Given the description of an element on the screen output the (x, y) to click on. 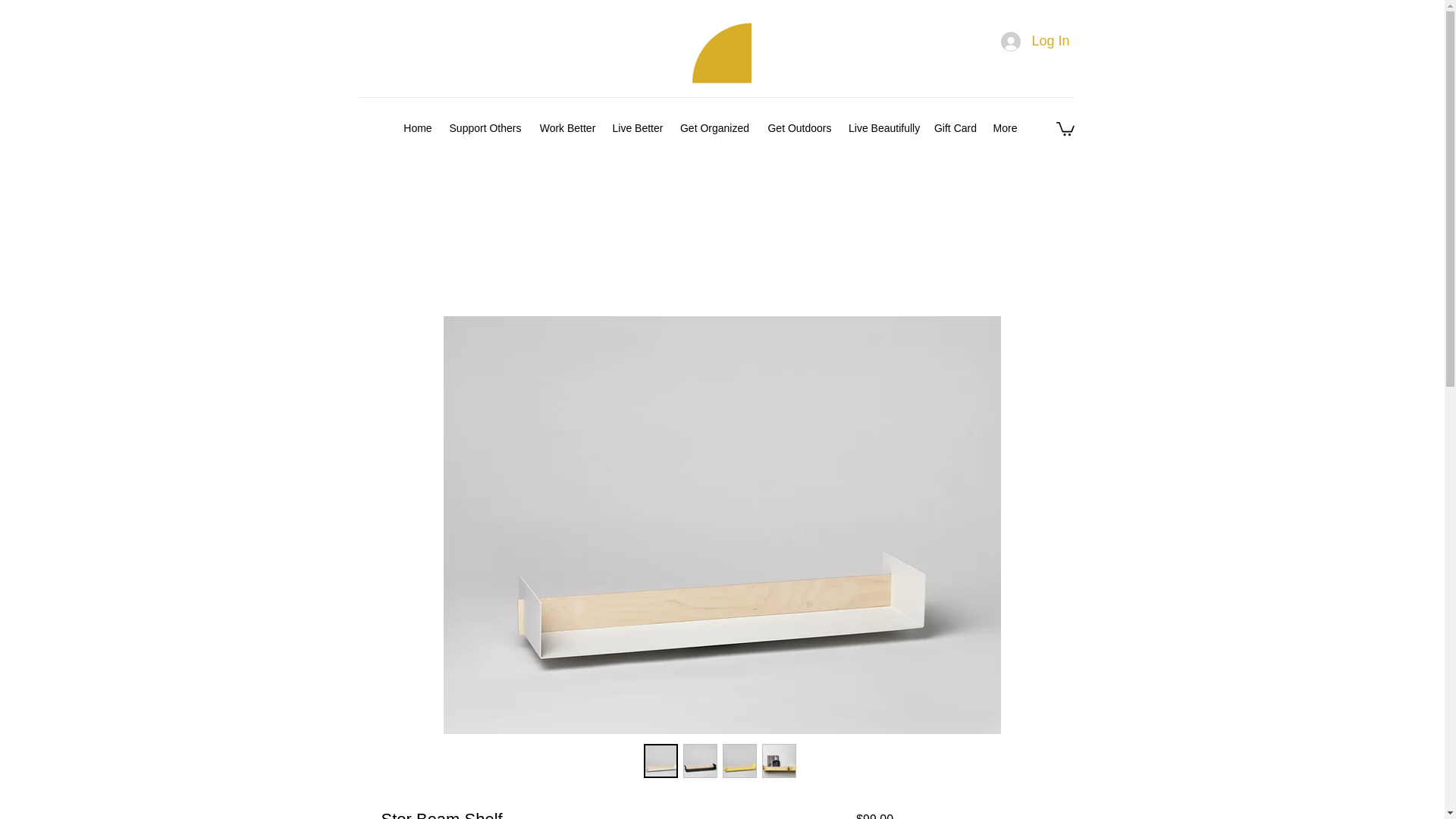
Gift Card (955, 127)
Live Beautifully (883, 127)
Get Organized (714, 127)
Work Better (567, 127)
Log In (1035, 41)
Get Outdoors (799, 127)
Live Better (637, 127)
Support Others (485, 127)
